Given the description of an element on the screen output the (x, y) to click on. 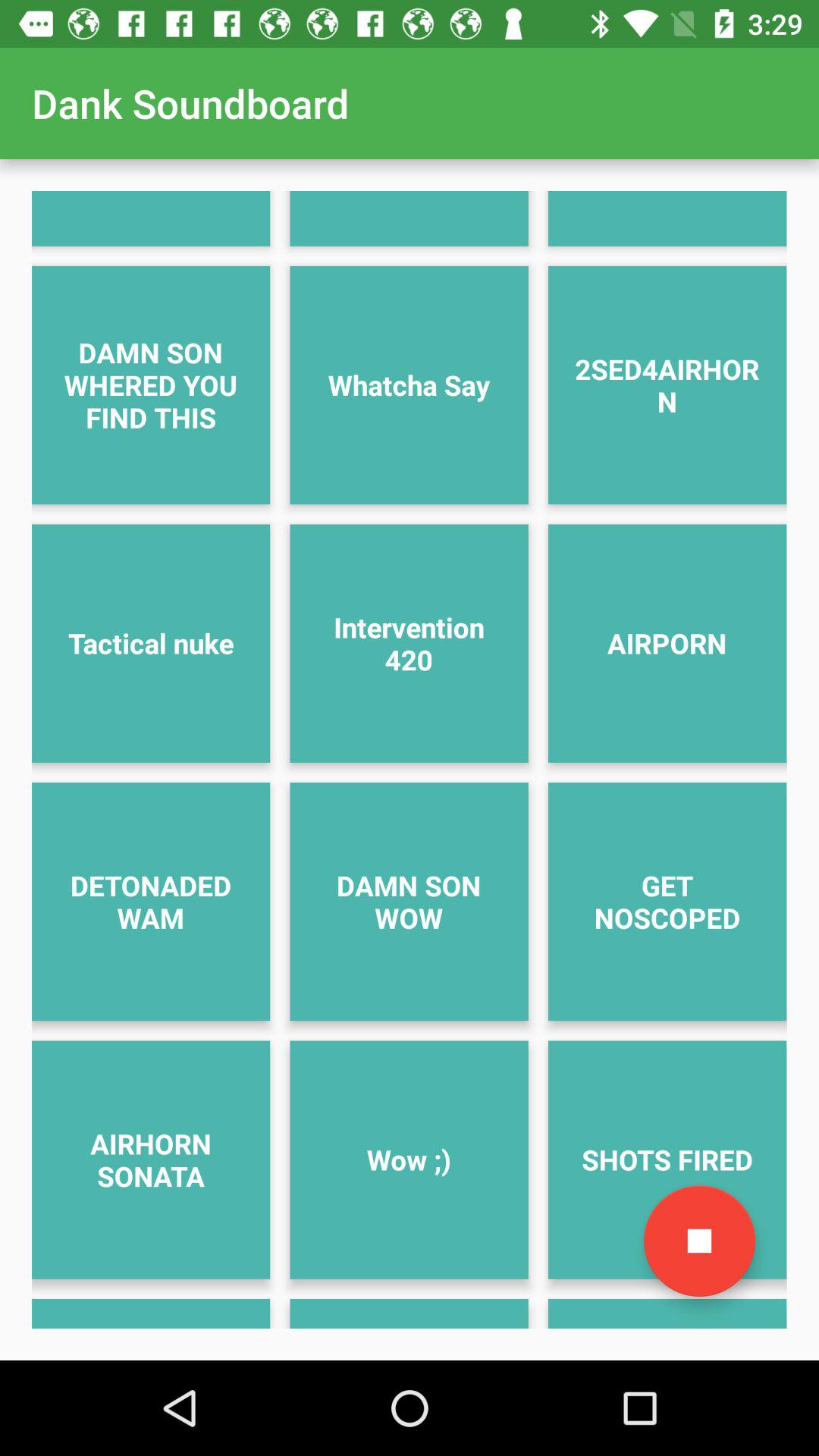
select icon next to wow ;) item (699, 1240)
